Given the description of an element on the screen output the (x, y) to click on. 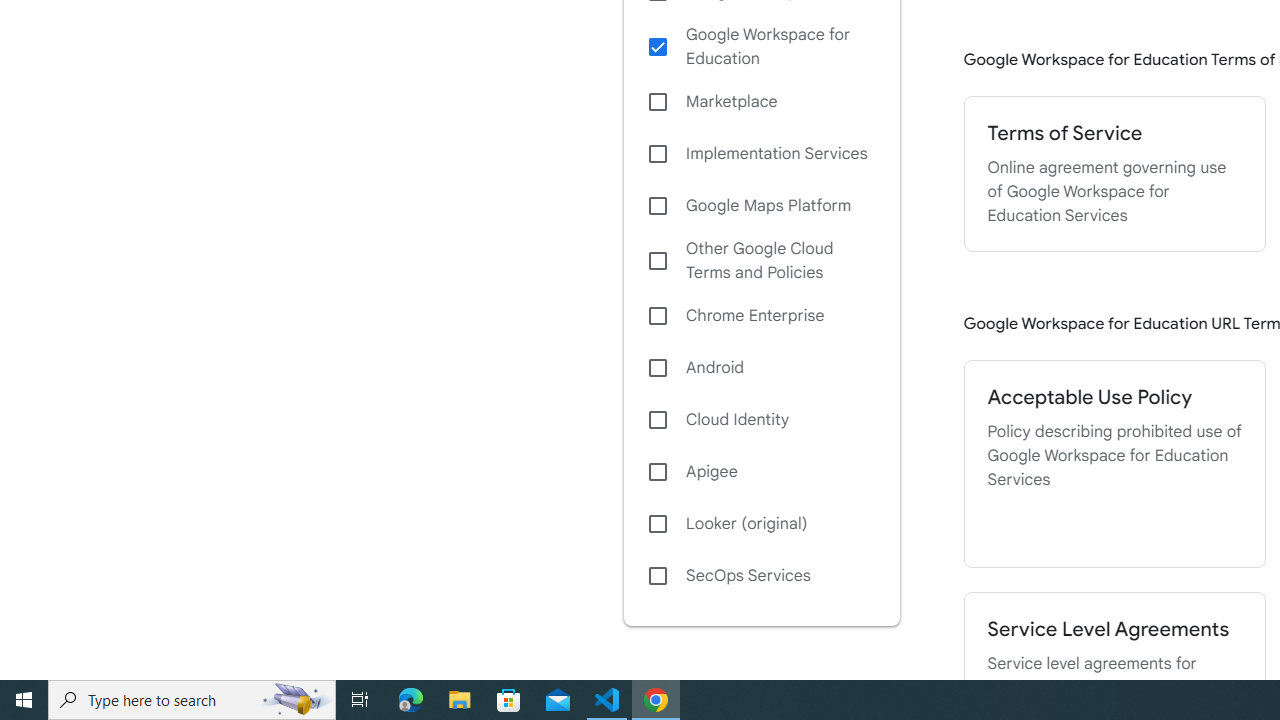
Android (761, 367)
Looker (original) (761, 524)
Other Google Cloud Terms and Policies (761, 260)
Apigee (761, 471)
SecOps Services (761, 575)
Cloud Identity (761, 419)
Chrome Enterprise (761, 316)
Marketplace (761, 102)
Google Maps Platform (761, 205)
Google Workspace for Education (761, 47)
Implementation Services (761, 154)
